Given the description of an element on the screen output the (x, y) to click on. 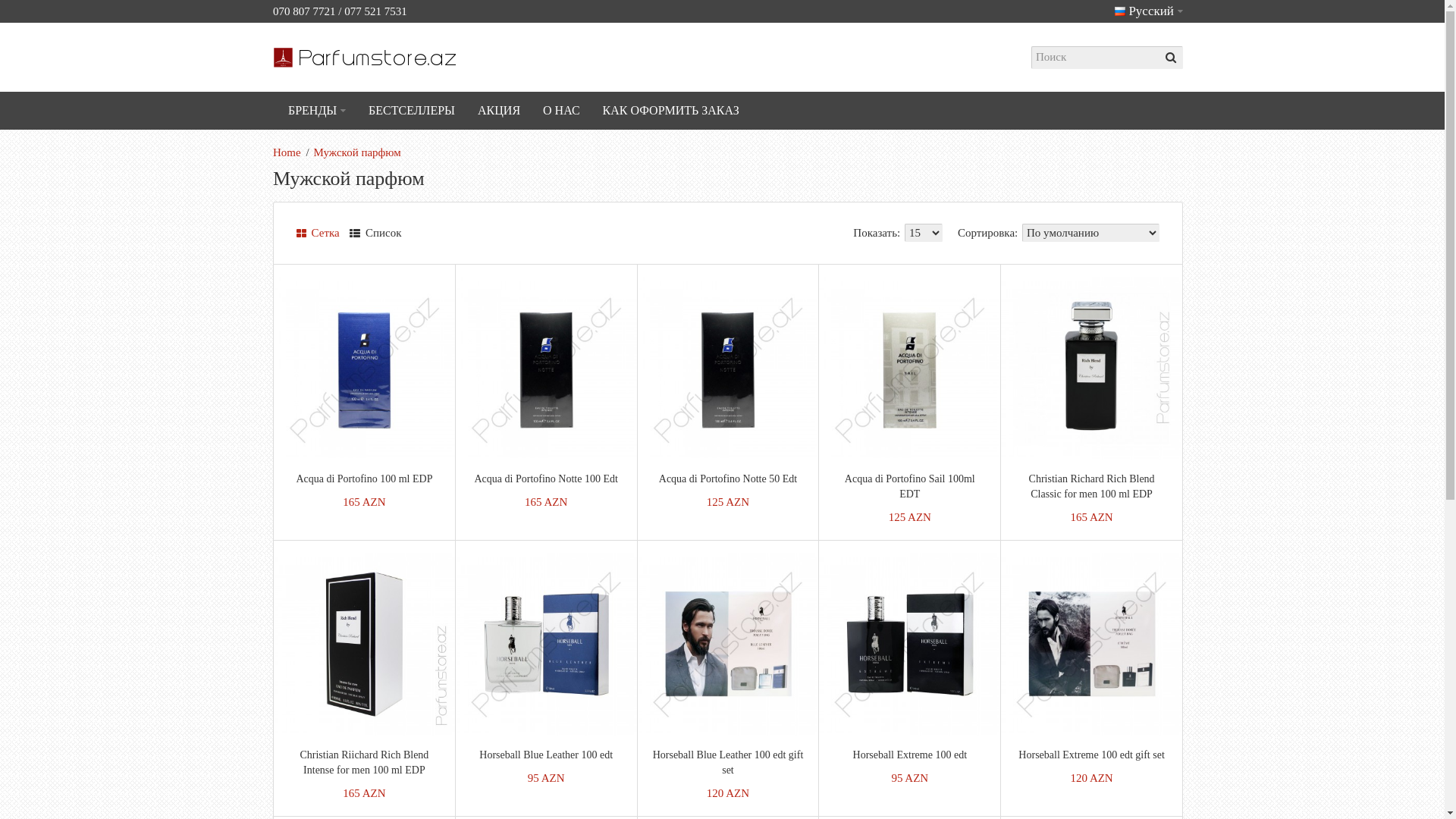
Horseball Blue Leather 100 edt gift set Element type: text (727, 762)
Christian Richard Rich Blend Classic for men 100 ml EDP Element type: text (1091, 486)
Horseball Extreme 100 edt gift set Element type: text (1091, 754)
070 807 7721 Element type: text (304, 11)
Horseball Extreme 100 edt Element type: text (909, 754)
Acqua di Portofino Sail 100ml EDT Element type: text (909, 486)
077 521 7531 Element type: text (375, 11)
Christian Riichard Rich Blend Intense for men 100 ml EDP Element type: text (363, 762)
Acqua di Portofino Notte 50 Edt Element type: text (727, 478)
Acqua di Portofino 100 ml EDP Element type: text (363, 478)
Horseball Blue Leather 100 edt Element type: text (545, 754)
Acqua di Portofino Notte 100 Edt Element type: text (546, 478)
